Given the description of an element on the screen output the (x, y) to click on. 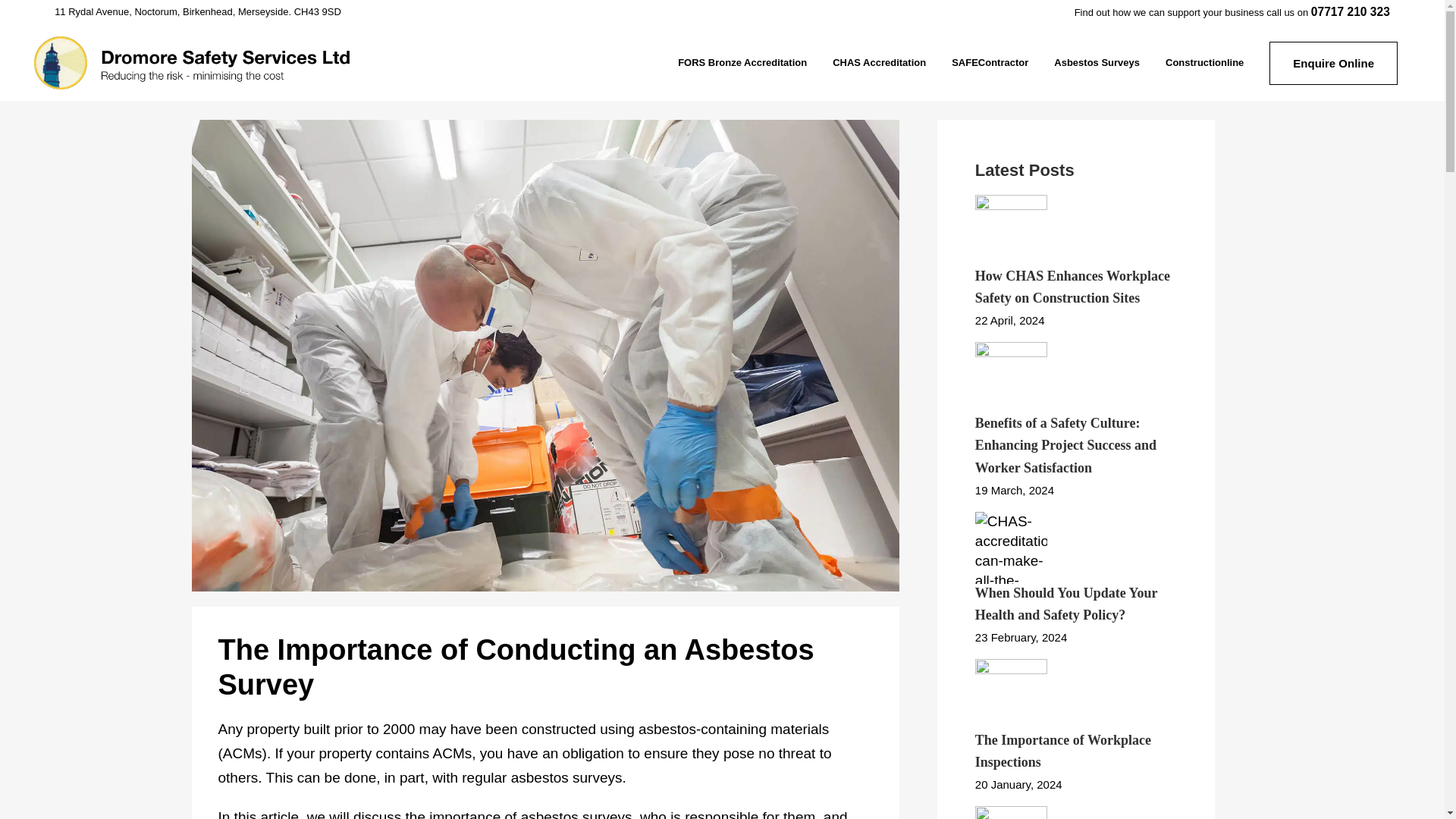
07717 210 323 (1350, 11)
Enquire Online (1333, 62)
How CHAS Enhances Workplace Safety on Construction Sites (1072, 287)
FORS Bronze Accreditation (742, 62)
CHAS Accreditation (879, 62)
The Importance of Workplace Inspections (1063, 751)
Asbestos Surveys (1097, 62)
SAFEContractor (990, 62)
When Should You Update Your Health and Safety Policy? (1066, 604)
